Given the description of an element on the screen output the (x, y) to click on. 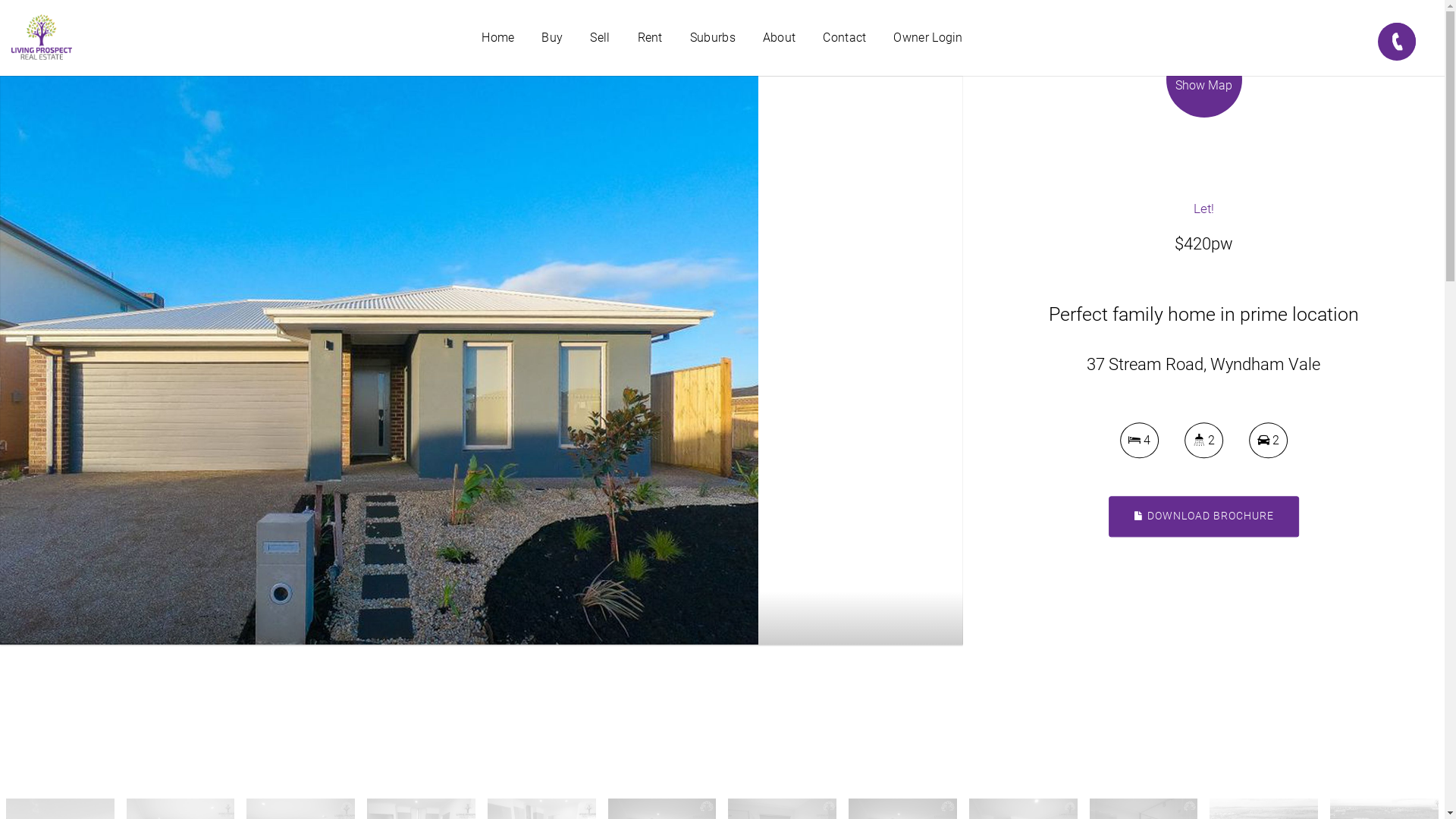
Buy Element type: text (551, 37)
37 Stream Road, Wyndham Vale Element type: hover (379, 358)
Owner Login Element type: text (927, 37)
Show Map Element type: text (1204, 94)
Home Element type: text (497, 37)
Contact Element type: text (844, 37)
DOWNLOAD BROCHURE Element type: text (1203, 516)
About Element type: text (779, 37)
Sell Element type: text (599, 37)
Rent Element type: text (649, 37)
Suburbs Element type: text (712, 37)
